Given the description of an element on the screen output the (x, y) to click on. 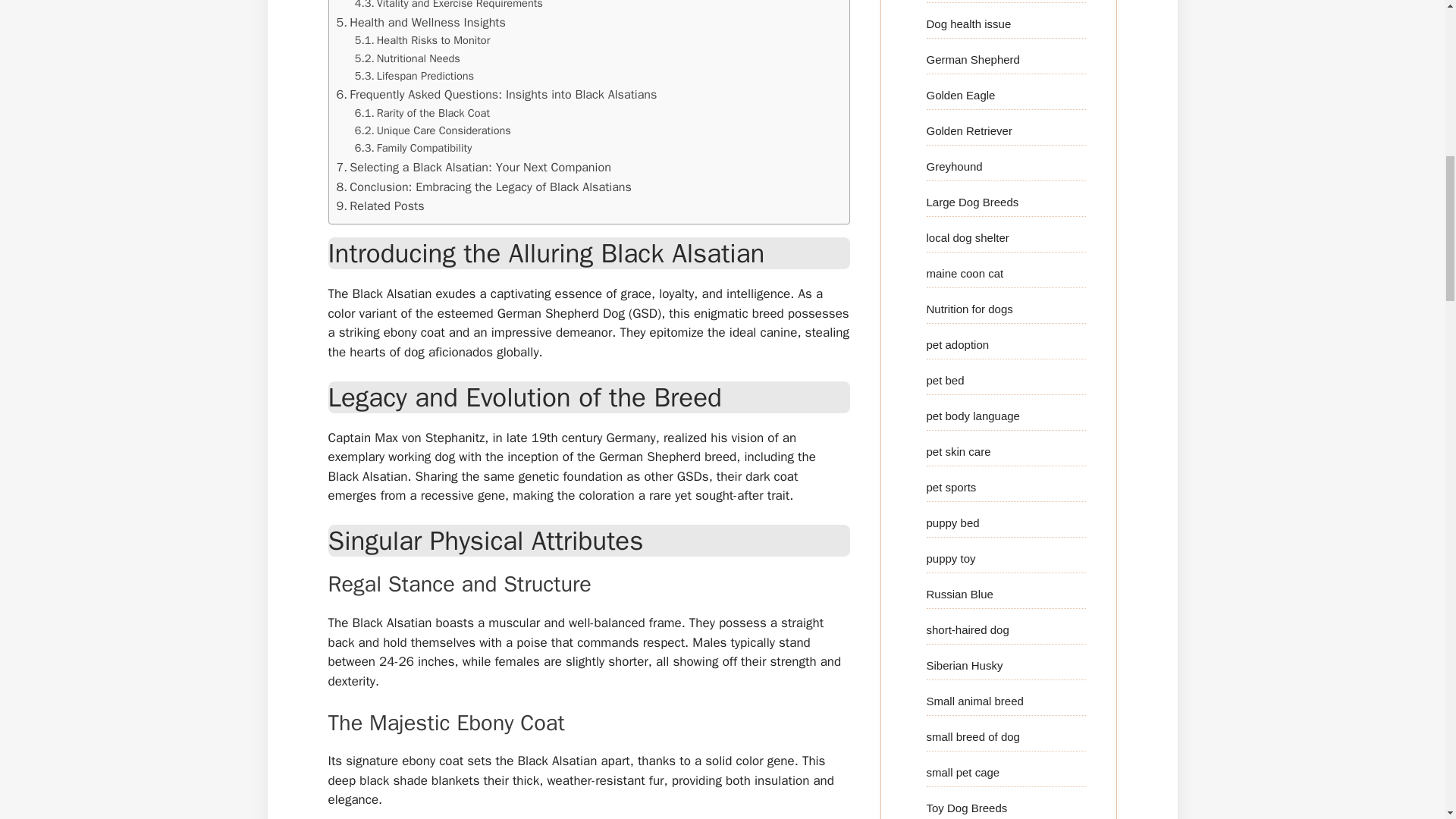
Health and Wellness Insights (420, 22)
Related Posts (380, 206)
Frequently Asked Questions: Insights into Black Alsatians (497, 94)
Lifespan Predictions (414, 76)
Lifespan Predictions (414, 76)
Health and Wellness Insights (420, 22)
Vitality and Exercise Requirements (449, 6)
Selecting a Black Alsatian: Your Next Companion (473, 167)
Family Compatibility (413, 148)
Vitality and Exercise Requirements (449, 6)
